Given the description of an element on the screen output the (x, y) to click on. 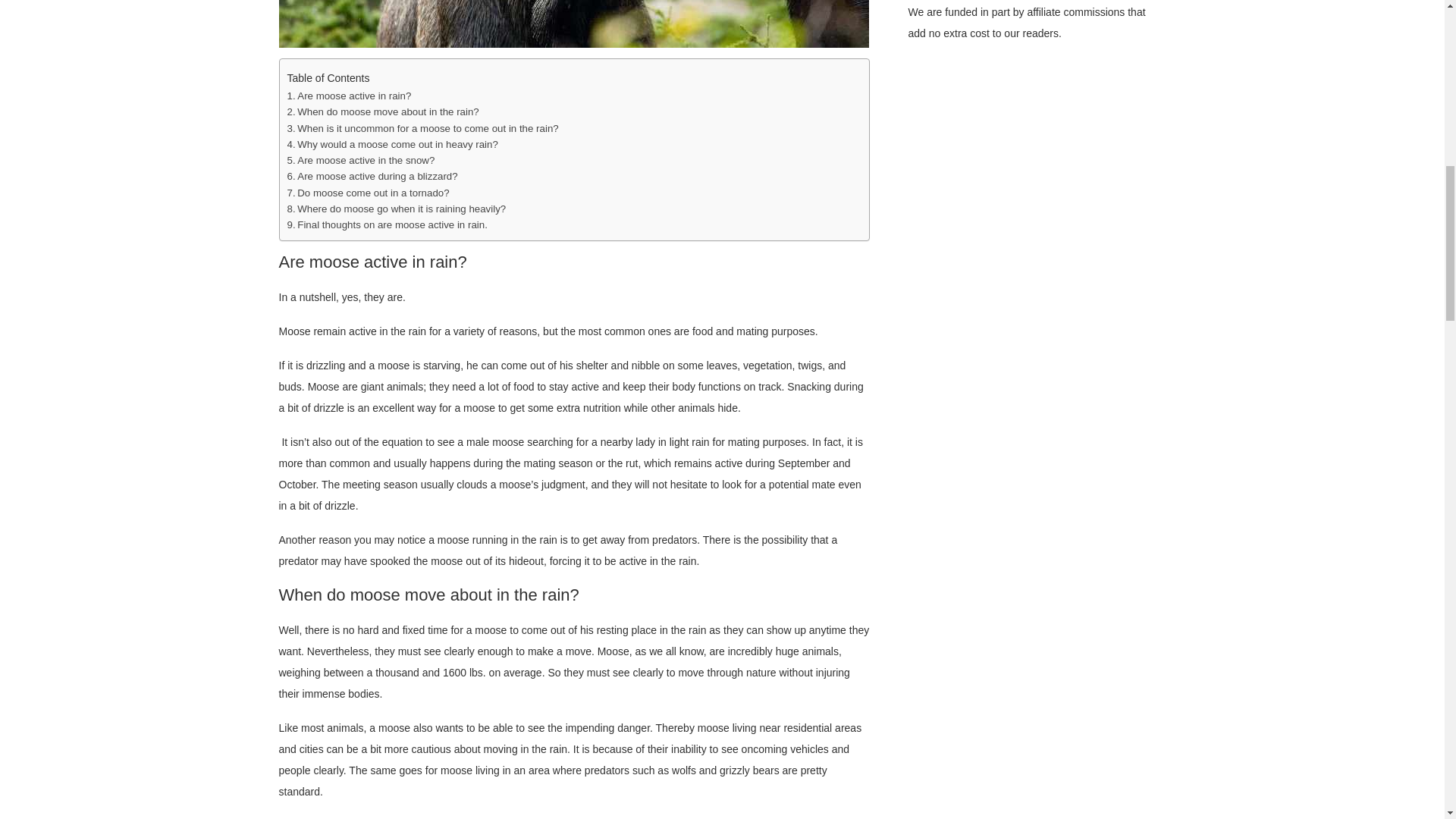
Are moose active in rain? (348, 95)
Final thoughts on are moose active in rain. (386, 224)
When do moose move about in the rain? (382, 111)
Why would a moose come out in heavy rain? (391, 144)
Are moose active in the snow? (359, 160)
Final thoughts on are moose active in rain. (386, 224)
Where do moose go when it is raining heavily? (395, 208)
Are moose active during a blizzard? (371, 176)
When do moose move about in the rain? (382, 111)
Where do moose go when it is raining heavily? (395, 208)
Do moose come out in a tornado? (367, 192)
When is it uncommon for a moose to come out in the rain?   (425, 128)
Are moose active in the snow? (359, 160)
Are moose active in rain? (348, 95)
